Given the description of an element on the screen output the (x, y) to click on. 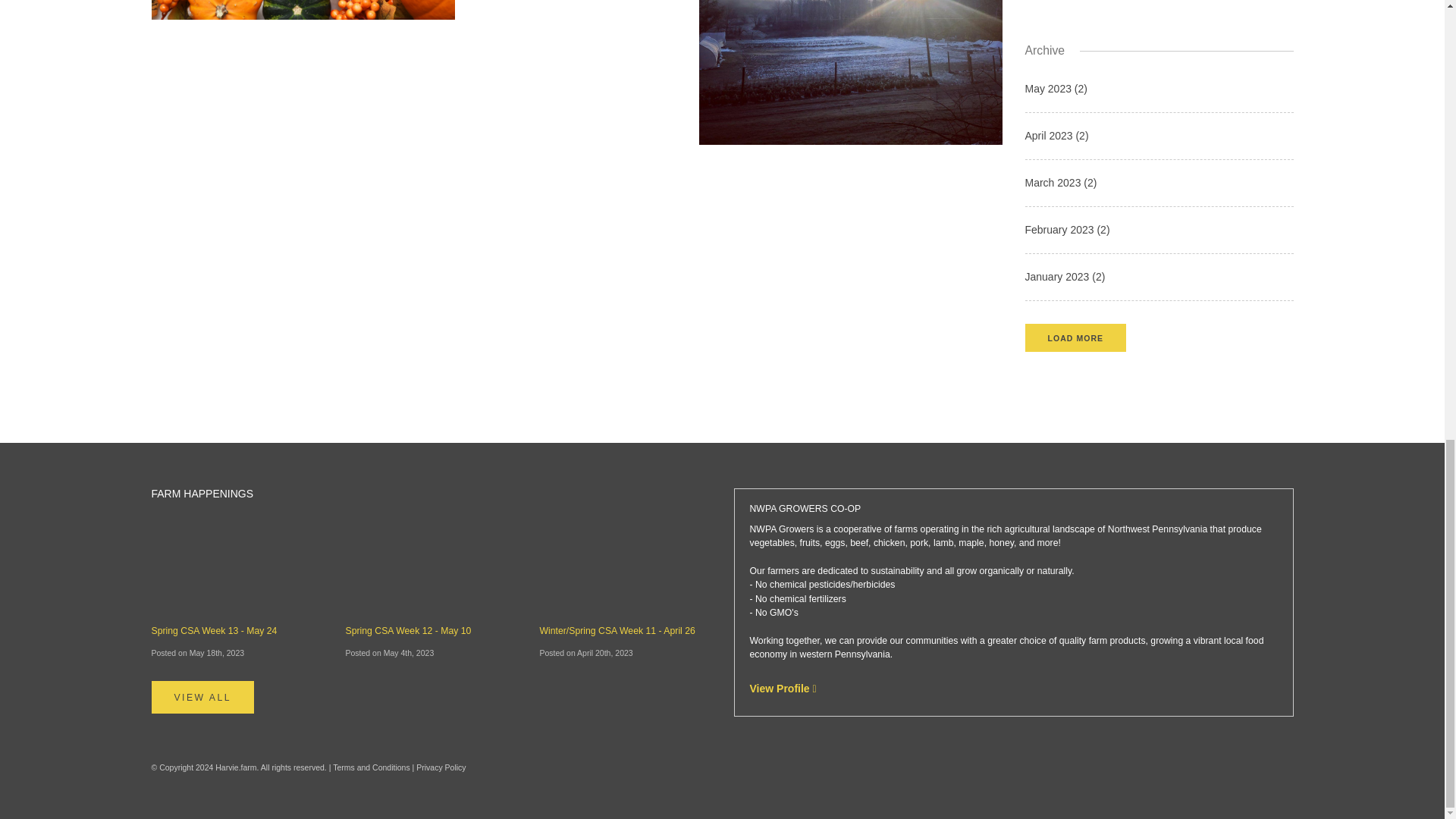
Archive - May 2023 (1159, 97)
Archive - March 2023 (1159, 191)
Archive - April 2023 (1159, 143)
Archive - February 2023 (1159, 237)
Archive - January 2023 (1159, 285)
